Given the description of an element on the screen output the (x, y) to click on. 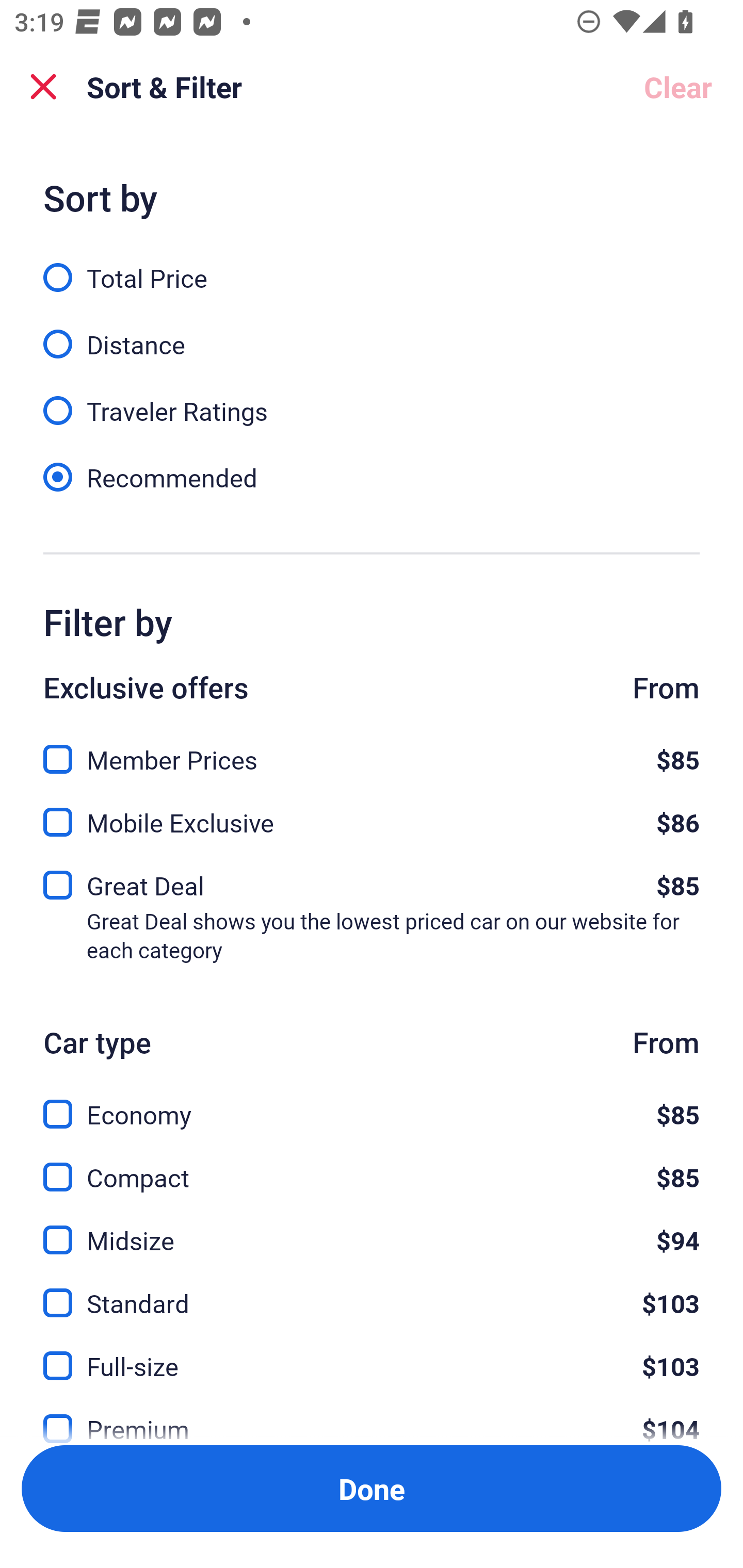
Close Sort and Filter (43, 86)
Clear (677, 86)
Total Price (371, 266)
Distance (371, 332)
Traveler Ratings (371, 399)
Member Prices, $85 Member Prices $85 (371, 747)
Mobile Exclusive, $86 Mobile Exclusive $86 (371, 816)
Economy, $85 Economy $85 (371, 1101)
Compact, $85 Compact $85 (371, 1164)
Midsize, $94 Midsize $94 (371, 1228)
Standard, $103 Standard $103 (371, 1291)
Full-size, $103 Full-size $103 (371, 1354)
Premium, $104 Premium $104 (371, 1415)
Apply and close Sort and Filter Done (371, 1488)
